Given the description of an element on the screen output the (x, y) to click on. 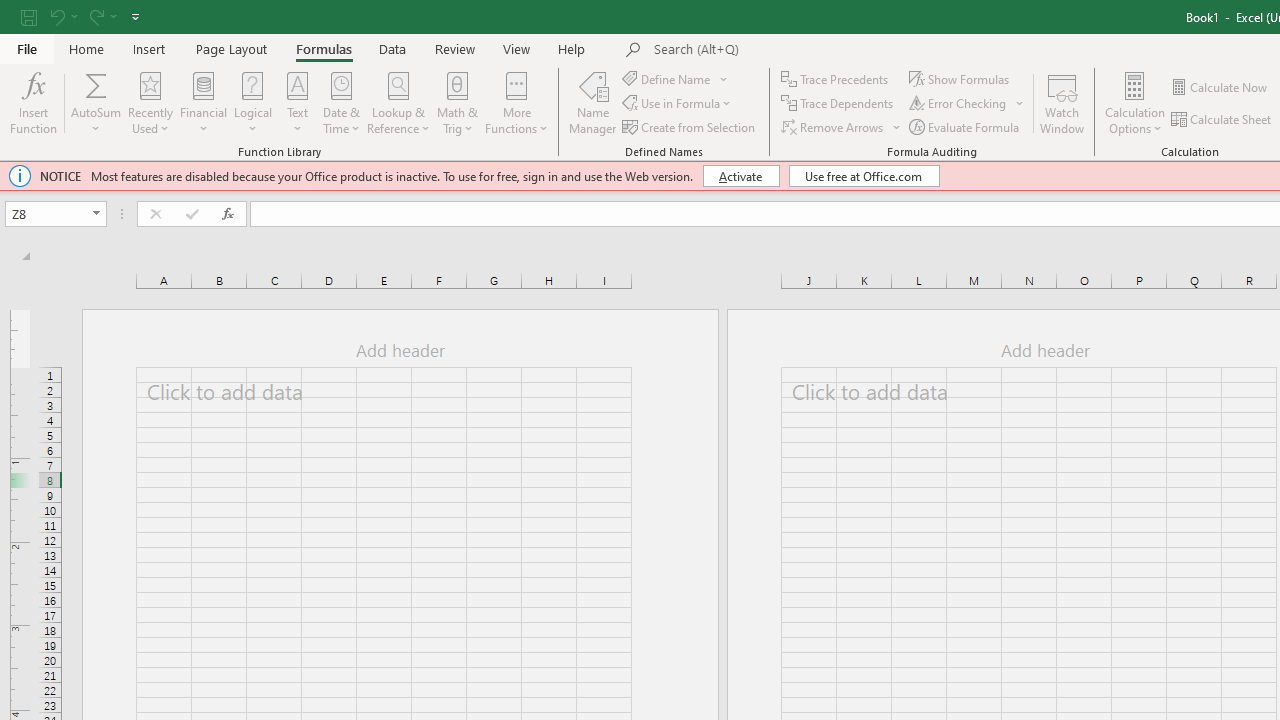
Trace Dependents (838, 103)
More Functions (516, 102)
Evaluate Formula (966, 126)
Text (297, 102)
